Given the description of an element on the screen output the (x, y) to click on. 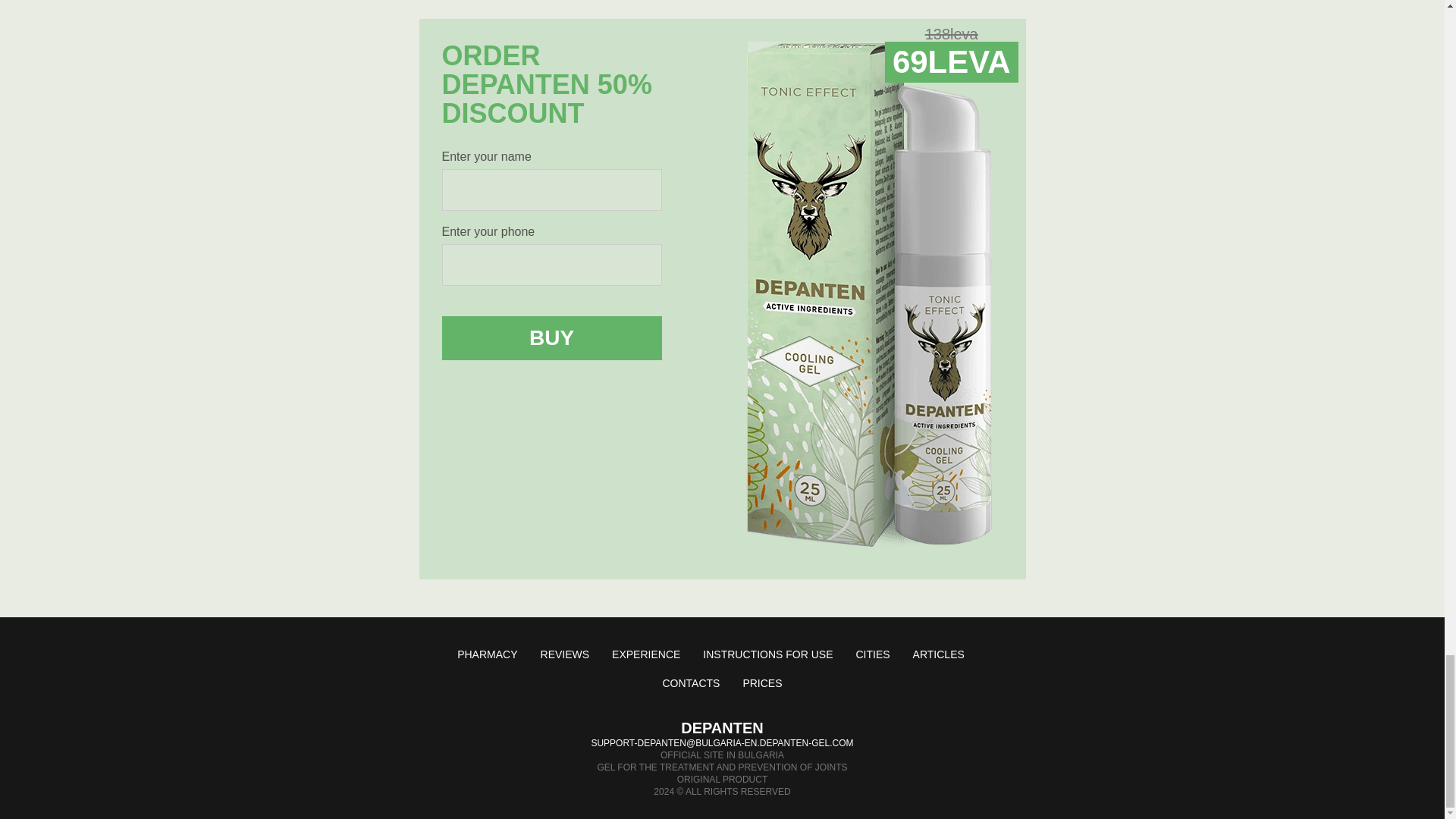
CITIES (872, 654)
ARTICLES (937, 654)
PRICES (761, 683)
BUY (551, 338)
DEPANTEN (722, 727)
REVIEWS (564, 654)
CONTACTS (690, 683)
INSTRUCTIONS FOR USE (767, 654)
PHARMACY (486, 654)
EXPERIENCE (645, 654)
